Given the description of an element on the screen output the (x, y) to click on. 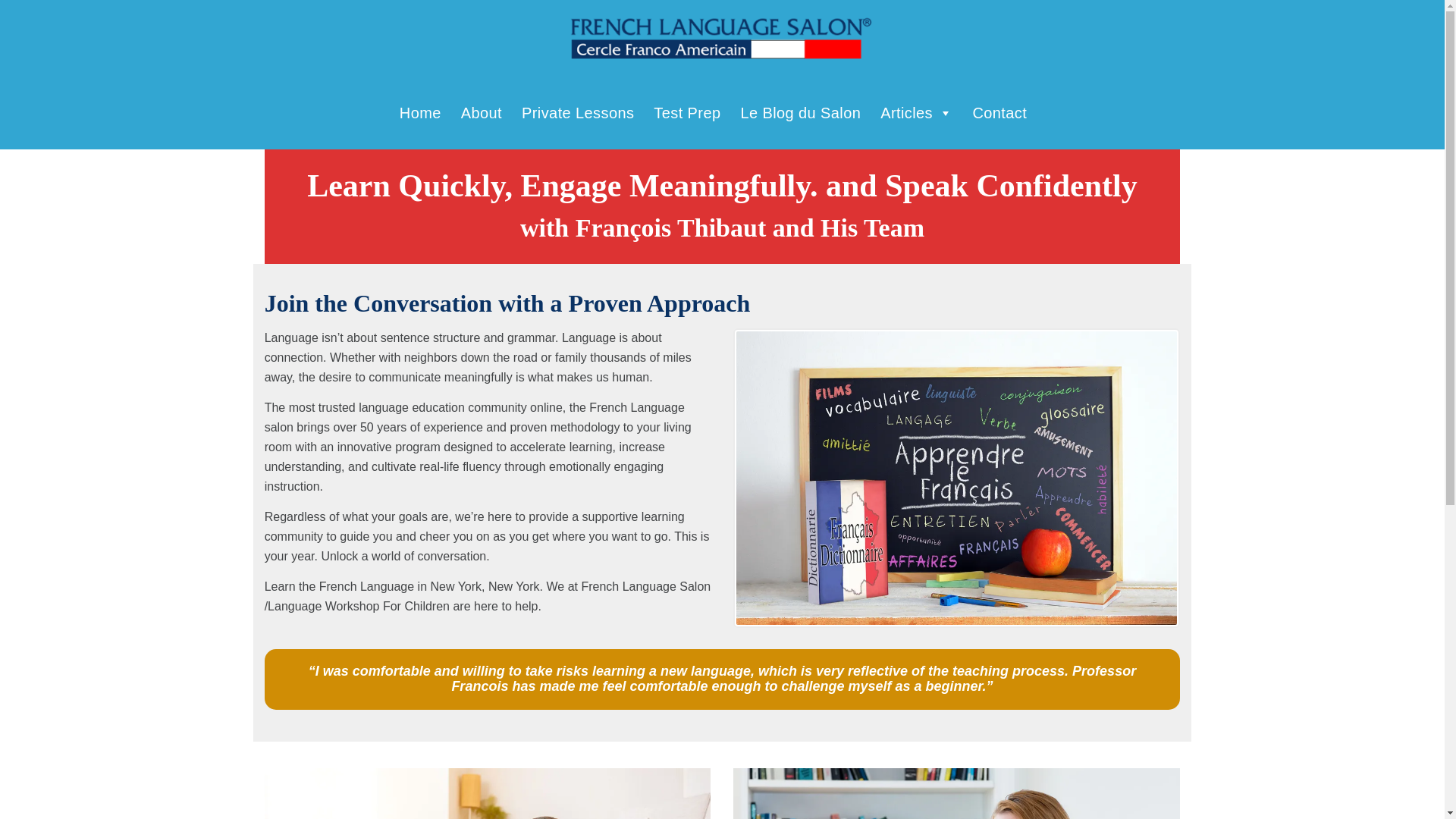
Private Lessons (577, 111)
About (481, 111)
Contact (999, 111)
Le Blog du Salon (799, 111)
Test Prep (686, 111)
Home (419, 111)
French Language Salon (721, 38)
Articles (916, 111)
